Given the description of an element on the screen output the (x, y) to click on. 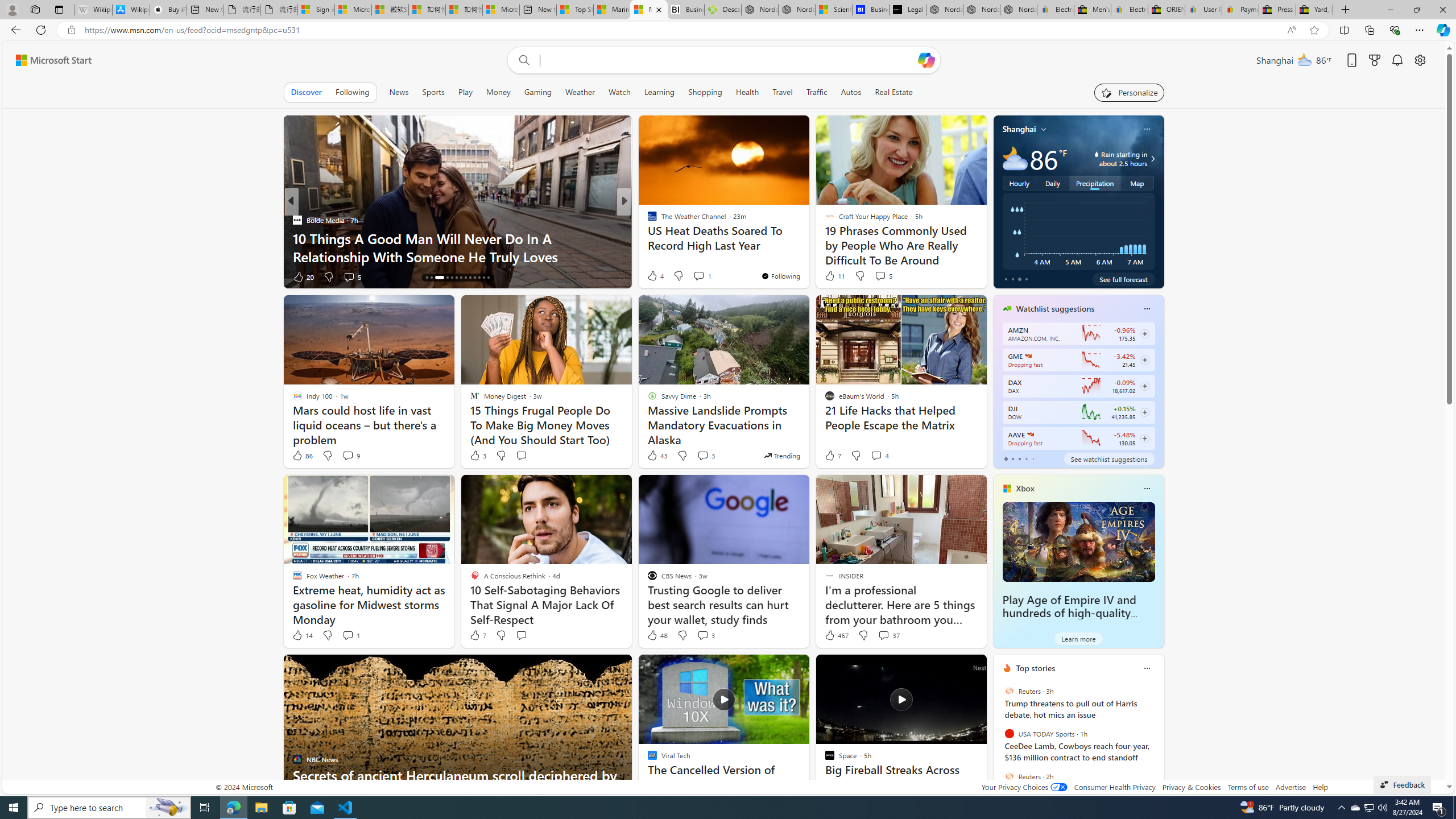
View comments 1k Comment (353, 276)
View comments 9 Comment (350, 455)
My location (1043, 128)
Money (497, 92)
Shopping (705, 92)
User Privacy Notice | eBay (1203, 9)
Real Estate (893, 92)
View comments 35 Comment (703, 276)
Class: icon-img (1146, 668)
AutomationID: tab-24 (478, 277)
